Given the description of an element on the screen output the (x, y) to click on. 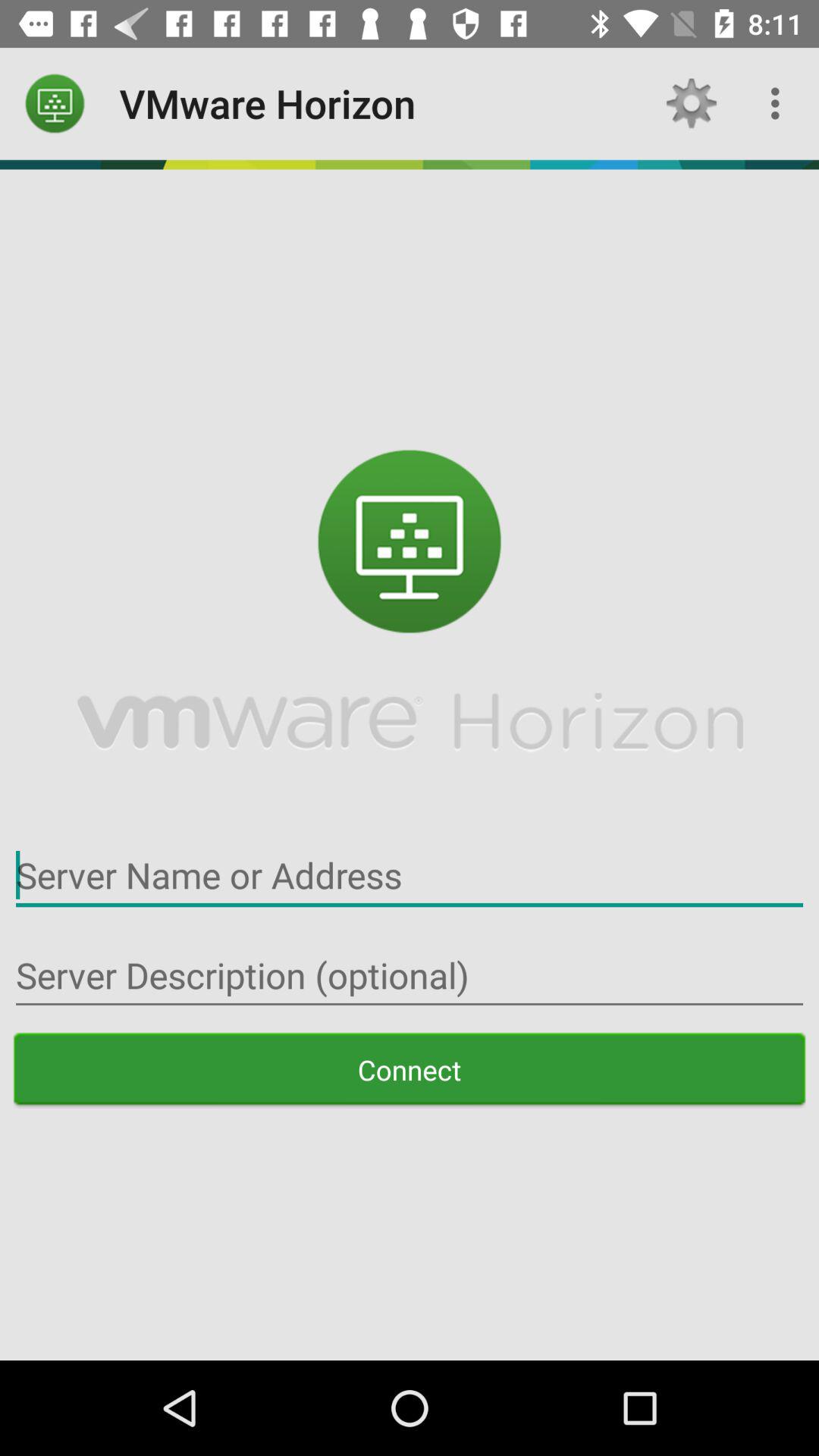
optional server description (409, 975)
